Given the description of an element on the screen output the (x, y) to click on. 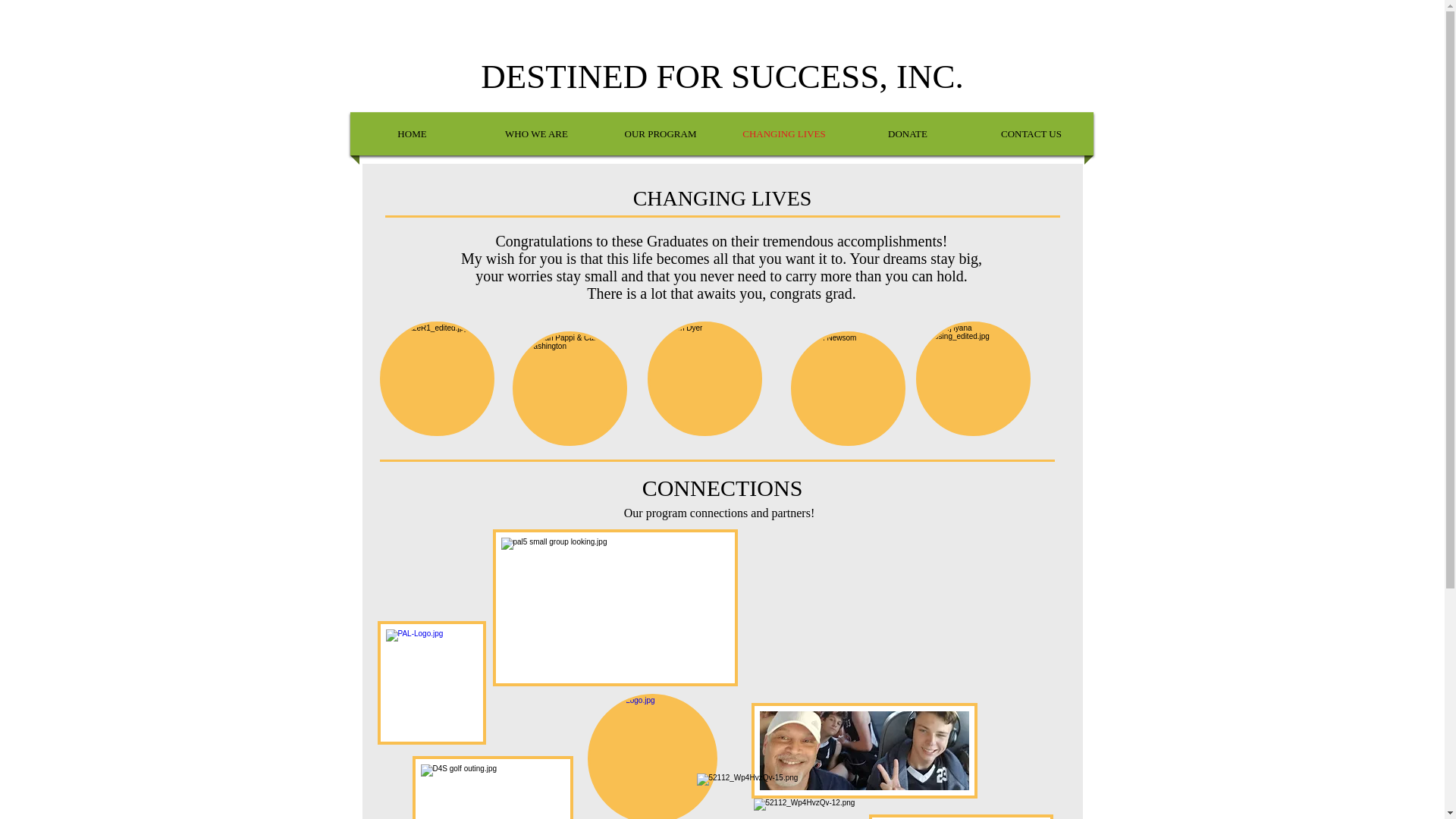
DESTINED FOR SUCCESS, INC. (721, 76)
OUR PROGRAM (660, 133)
CHANGING LIVES (783, 133)
CONTACT US (1031, 133)
DONATE (907, 133)
WHO WE ARE (536, 133)
HOME (412, 133)
